Given the description of an element on the screen output the (x, y) to click on. 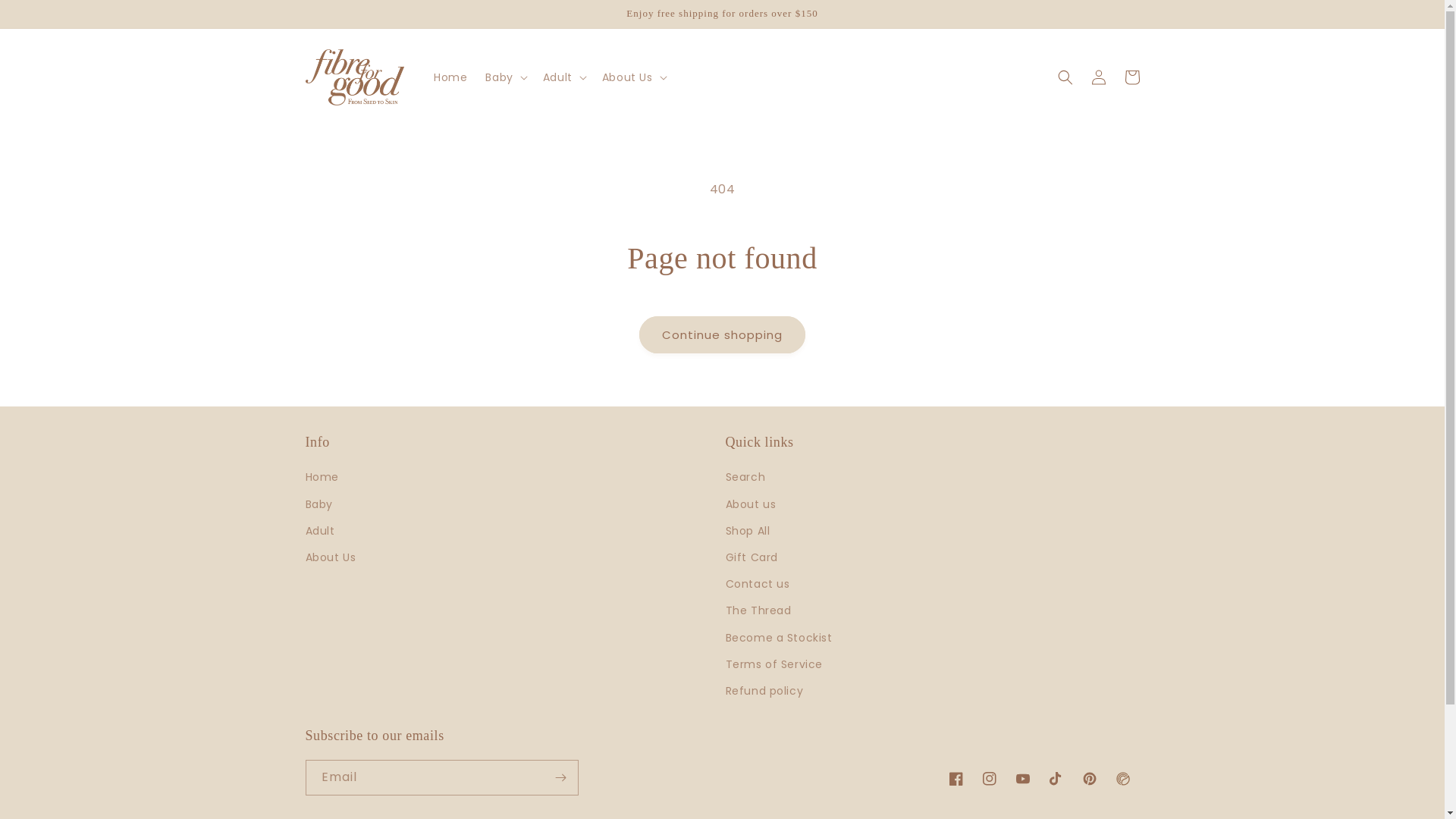
Instagram Element type: text (988, 778)
Pinterest Element type: text (1088, 778)
Refund policy Element type: text (763, 690)
Baby Element type: text (318, 504)
Terms of Service Element type: text (773, 664)
Home Element type: text (321, 478)
About us Element type: text (749, 504)
Search Element type: text (744, 478)
Tomorro Element type: text (1122, 778)
Log in Element type: text (1097, 77)
Continue shopping Element type: text (722, 334)
Gift Card Element type: text (750, 557)
Adult Element type: text (319, 530)
Facebook Element type: text (955, 778)
The Thread Element type: text (757, 610)
YouTube Element type: text (1021, 778)
Contact us Element type: text (756, 584)
Cart Element type: text (1131, 77)
Home Element type: text (450, 77)
Shop All Element type: text (746, 530)
Become a Stockist Element type: text (777, 637)
TikTok Element type: text (1055, 778)
About Us Element type: text (329, 557)
